Given the description of an element on the screen output the (x, y) to click on. 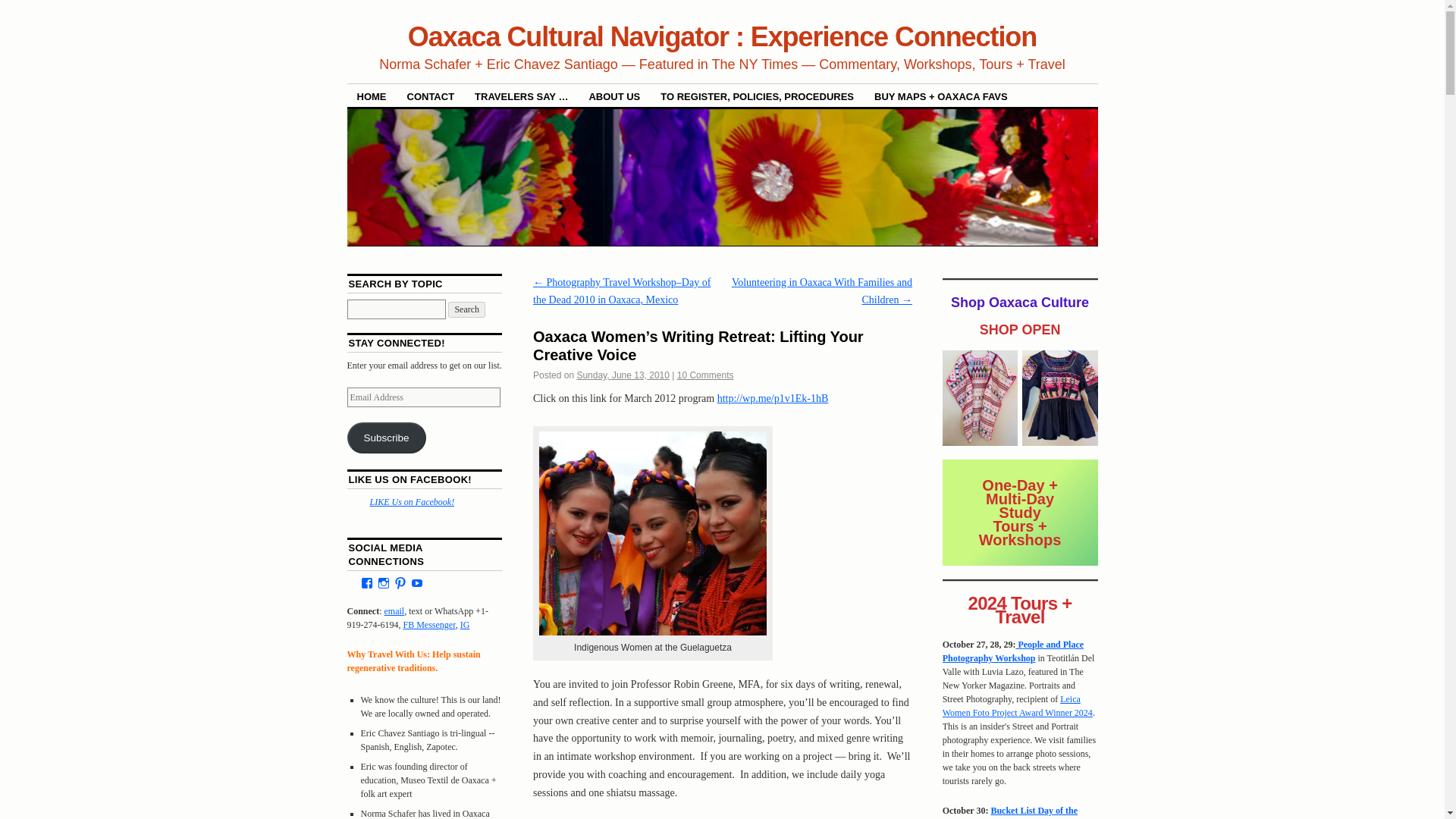
ABOUT US (613, 96)
Oaxaca Cultural Navigator : Experience Connection (721, 36)
TO REGISTER, POLICIES, PROCEDURES (756, 96)
10 Comments (705, 375)
9:04 pm (622, 375)
Sunday, June 13, 2010 (622, 375)
CONTACT (430, 96)
Search (466, 309)
Oaxaca Cultural Navigator : Experience Connection (721, 36)
HOME (371, 96)
